Given the description of an element on the screen output the (x, y) to click on. 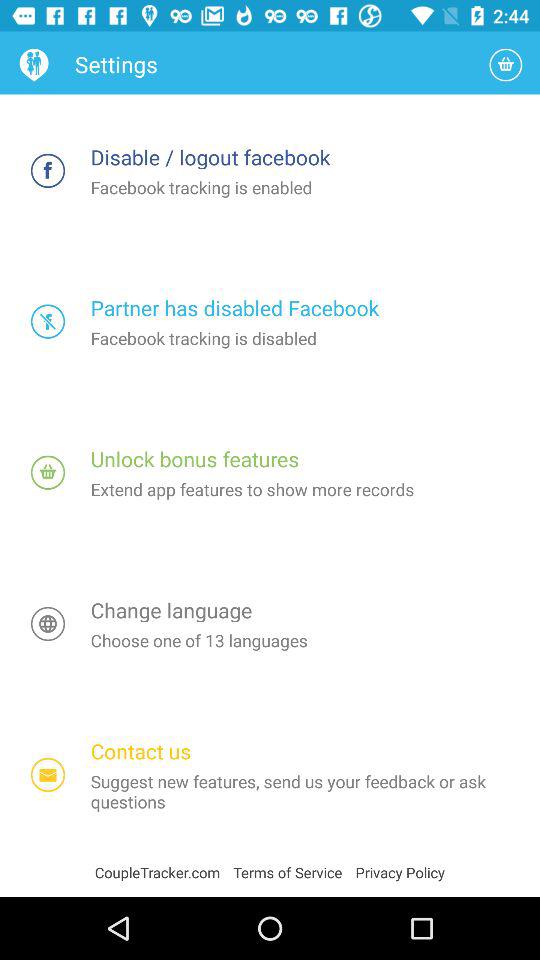
open change language settings (47, 623)
